Given the description of an element on the screen output the (x, y) to click on. 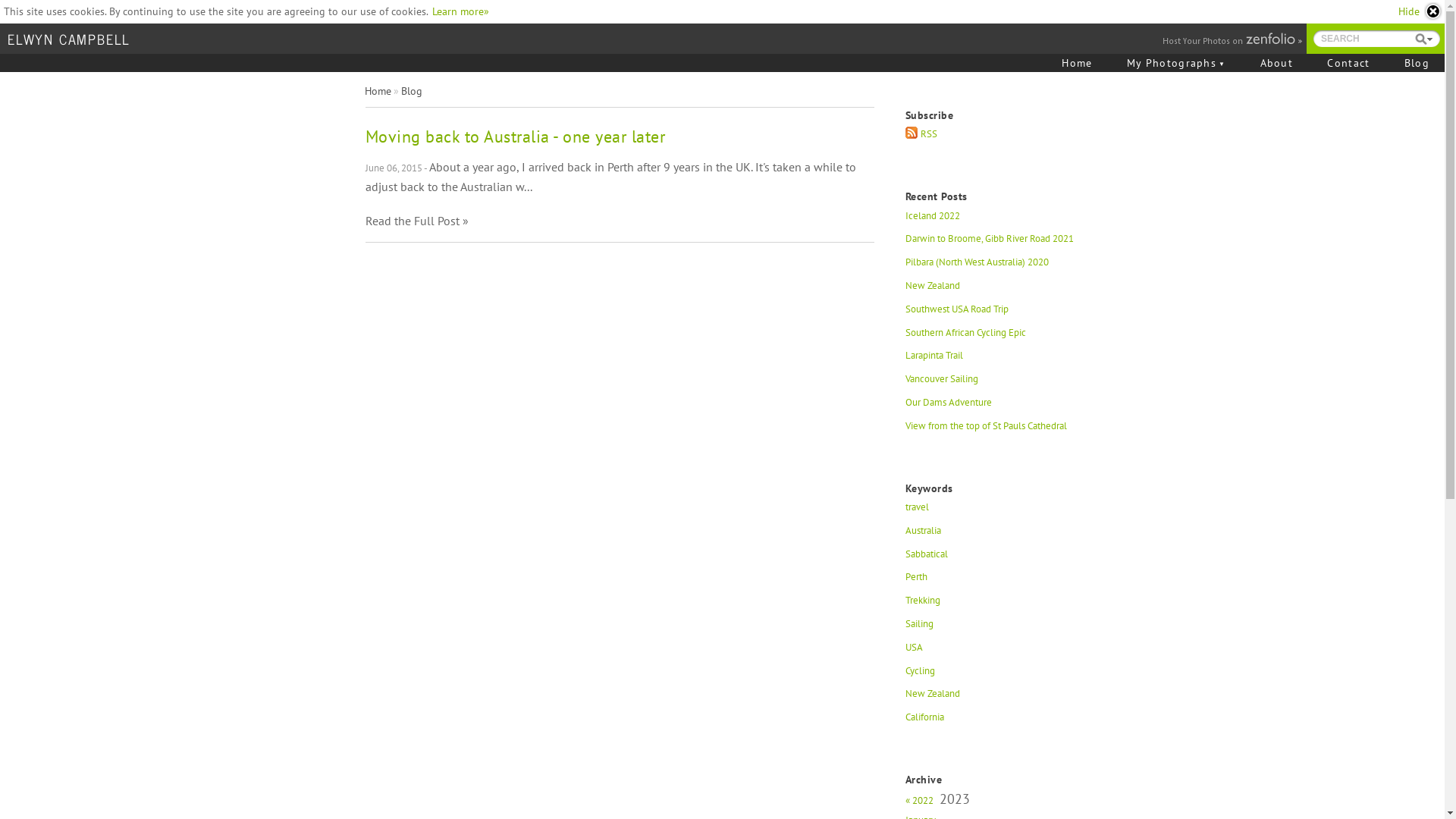
California Element type: text (992, 721)
Vancouver Sailing Element type: text (992, 383)
Contact Element type: text (1347, 62)
Host Your Photos on Zenfolio Element type: hover (1230, 40)
ELWYN CAMPBELL Element type: text (69, 38)
Trekking Element type: text (992, 604)
Larapinta Trail Element type: text (992, 359)
Blog Element type: text (1416, 62)
Home Element type: text (377, 90)
Southwest USA Road Trip Element type: text (992, 313)
USA Element type: text (992, 651)
Darwin to Broome, Gibb River Road 2021 Element type: text (992, 242)
View from the top of St Pauls Cathedral Element type: text (992, 430)
travel Element type: text (992, 511)
New Zealand Element type: text (992, 289)
Cycling Element type: text (992, 675)
Iceland 2022 Element type: text (992, 220)
Blog Element type: text (410, 90)
About Element type: text (1276, 62)
Sabbatical Element type: text (992, 558)
RSS Element type: text (992, 138)
Moving back to Australia - one year later Element type: text (515, 136)
Our Dams Adventure Element type: text (992, 406)
Pilbara (North West Australia) 2020 Element type: text (992, 266)
Australia Element type: text (992, 534)
Sailing Element type: text (992, 628)
Home Element type: text (1076, 62)
Hide Element type: text (1420, 11)
New Zealand Element type: text (992, 697)
Perth Element type: text (992, 581)
Southern African Cycling Epic Element type: text (992, 336)
